Given the description of an element on the screen output the (x, y) to click on. 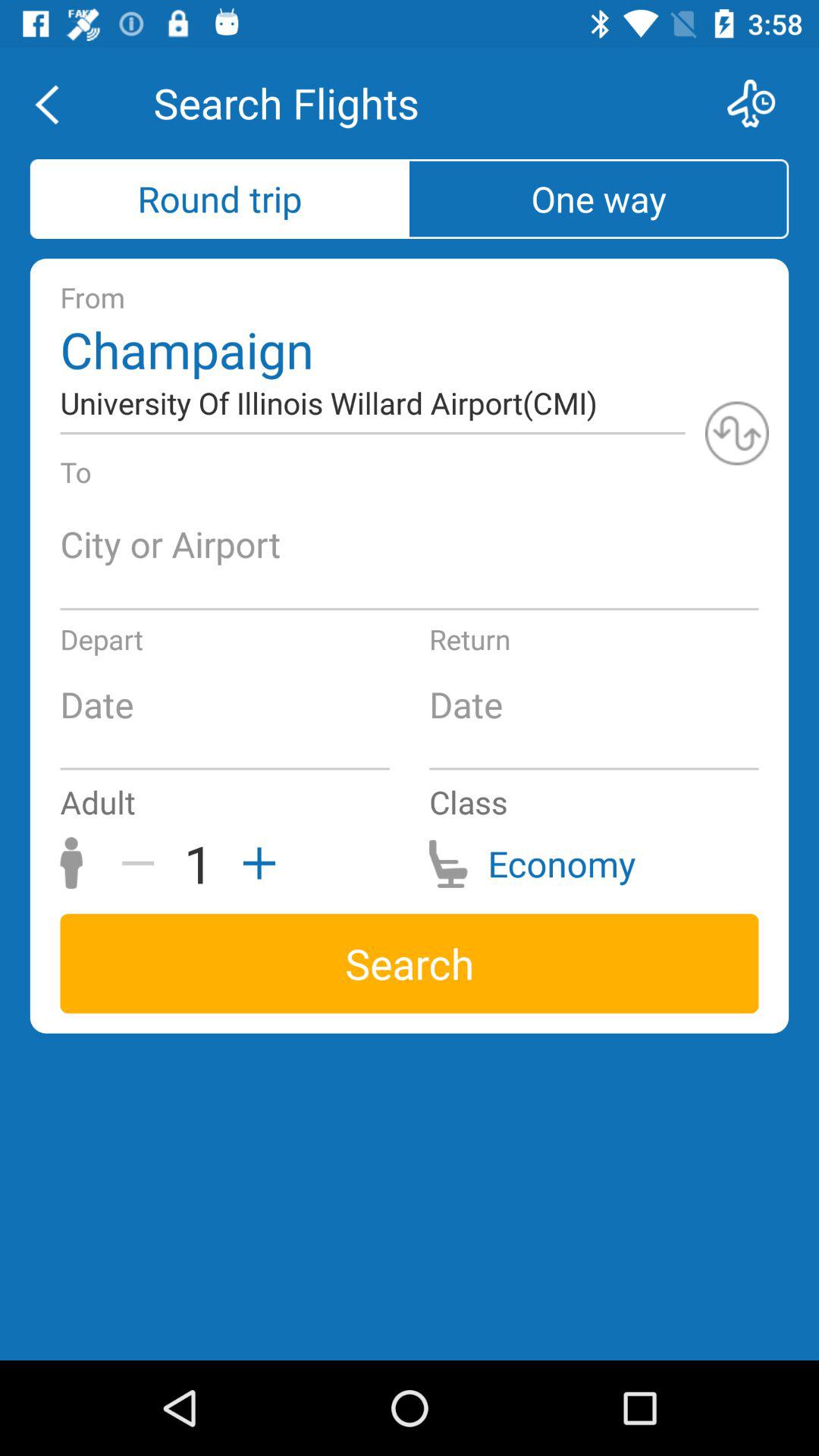
add option (254, 863)
